Given the description of an element on the screen output the (x, y) to click on. 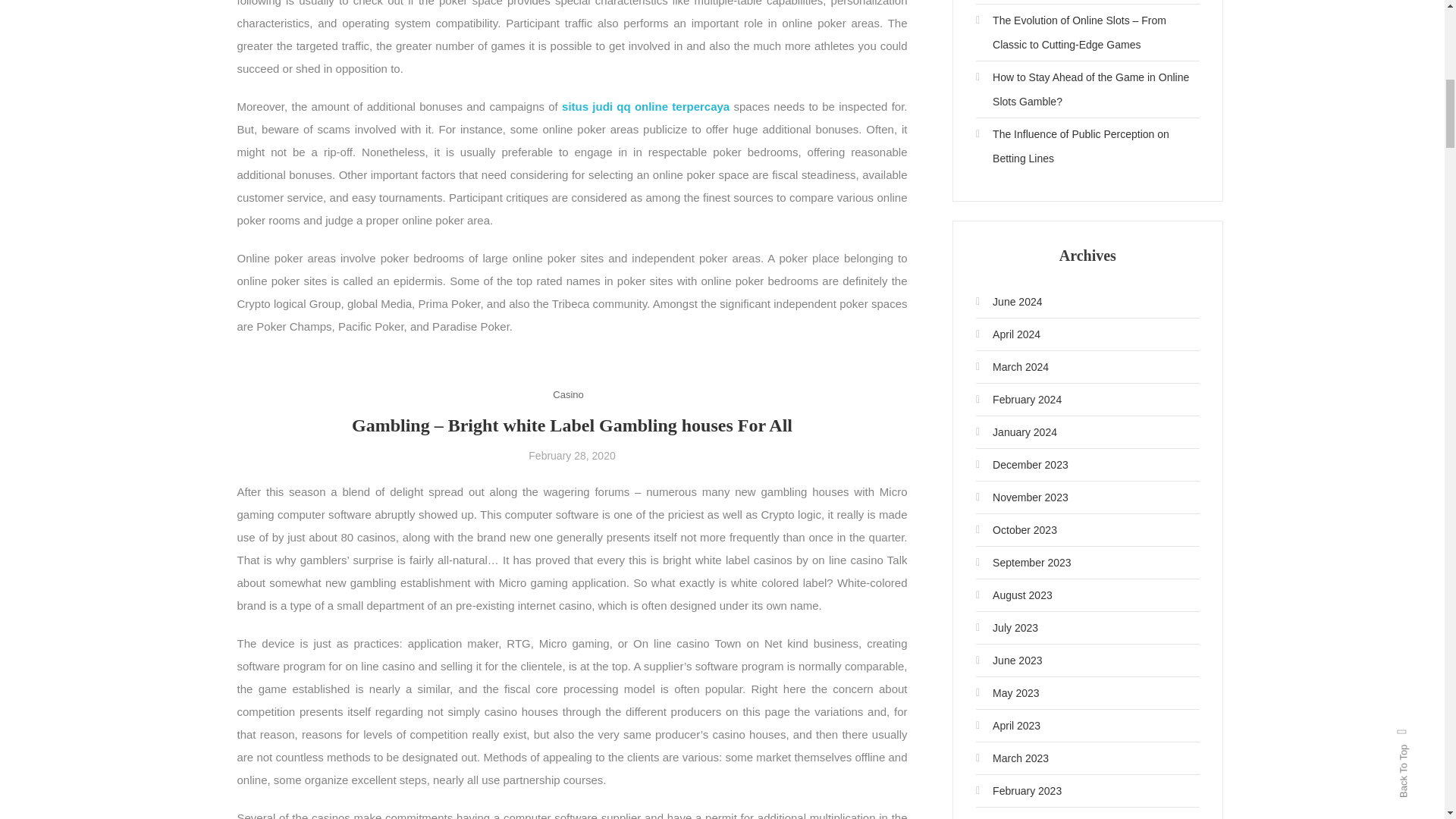
Casino (568, 394)
February 28, 2020 (571, 455)
situs judi qq online terpercaya (645, 106)
